Given the description of an element on the screen output the (x, y) to click on. 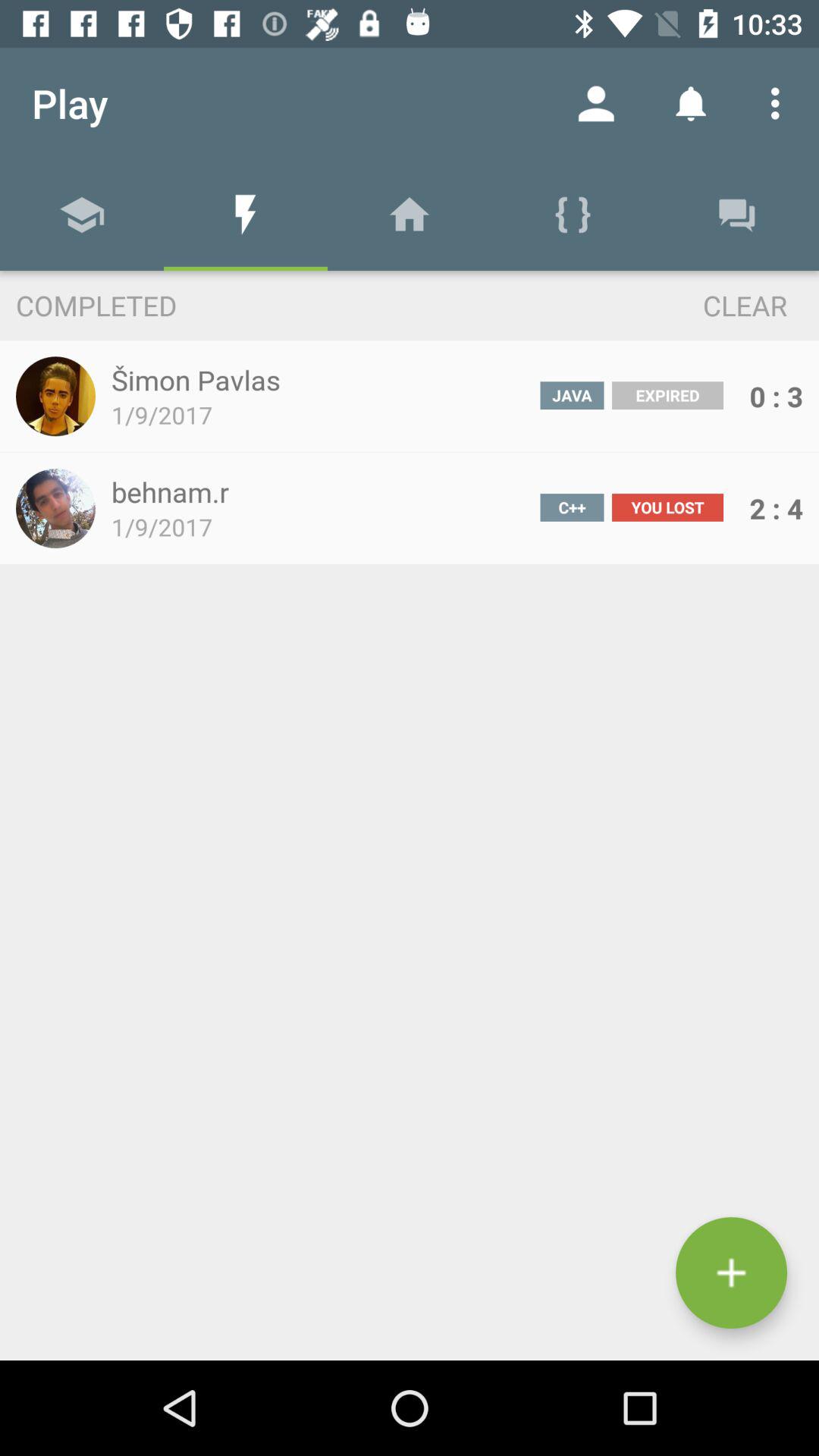
choose item to the right of the play (595, 103)
